Given the description of an element on the screen output the (x, y) to click on. 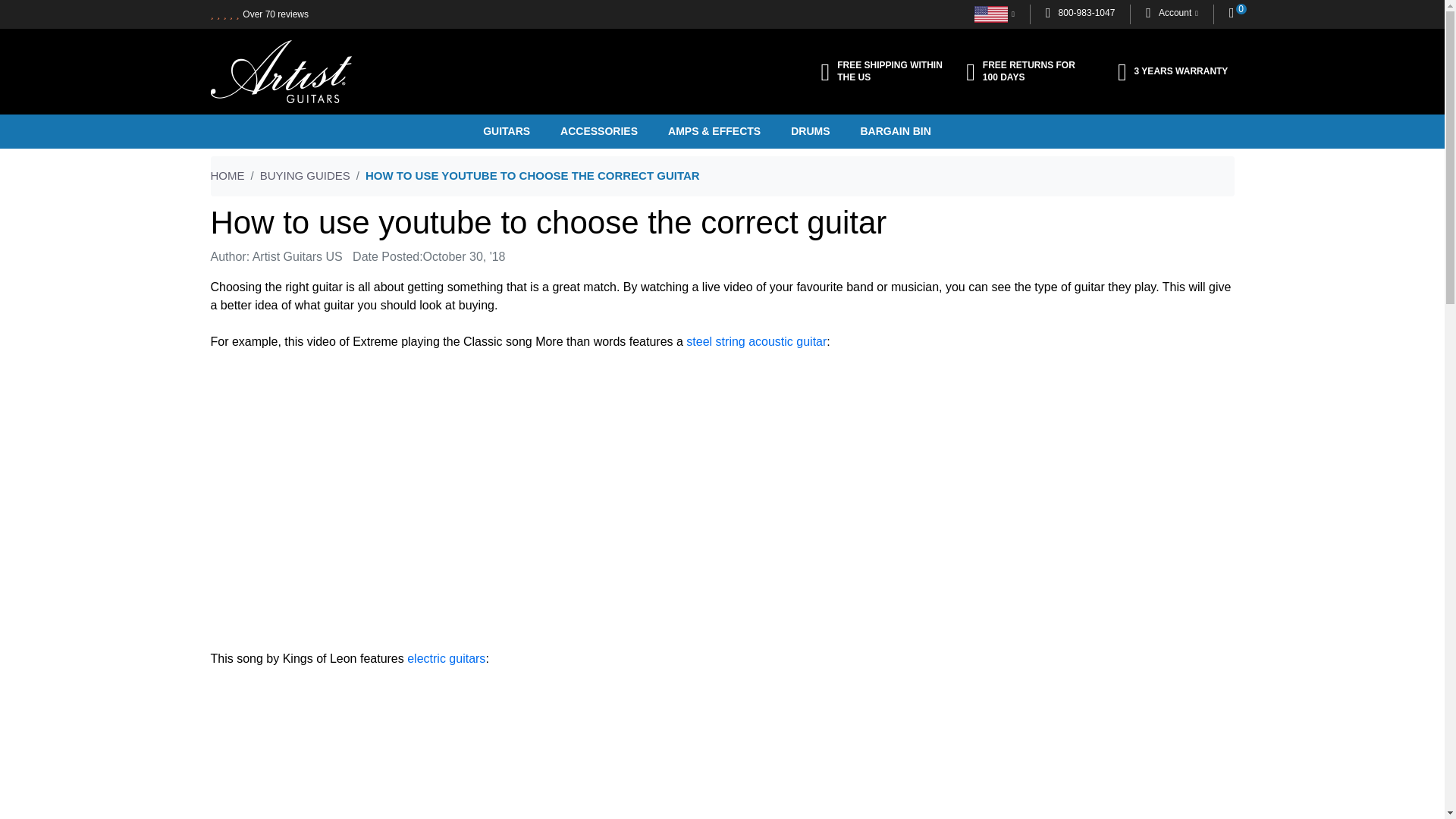
800-983-1047 (1080, 12)
FREE RETURNS FOR 100 DAYS (1027, 70)
3 YEARS WARRANTY (1173, 70)
Artist Guitars US (281, 70)
GUITARS (521, 131)
FREE SHIPPING WITHIN THE US (882, 70)
Over 70 reviews (275, 14)
Account (1171, 12)
